Given the description of an element on the screen output the (x, y) to click on. 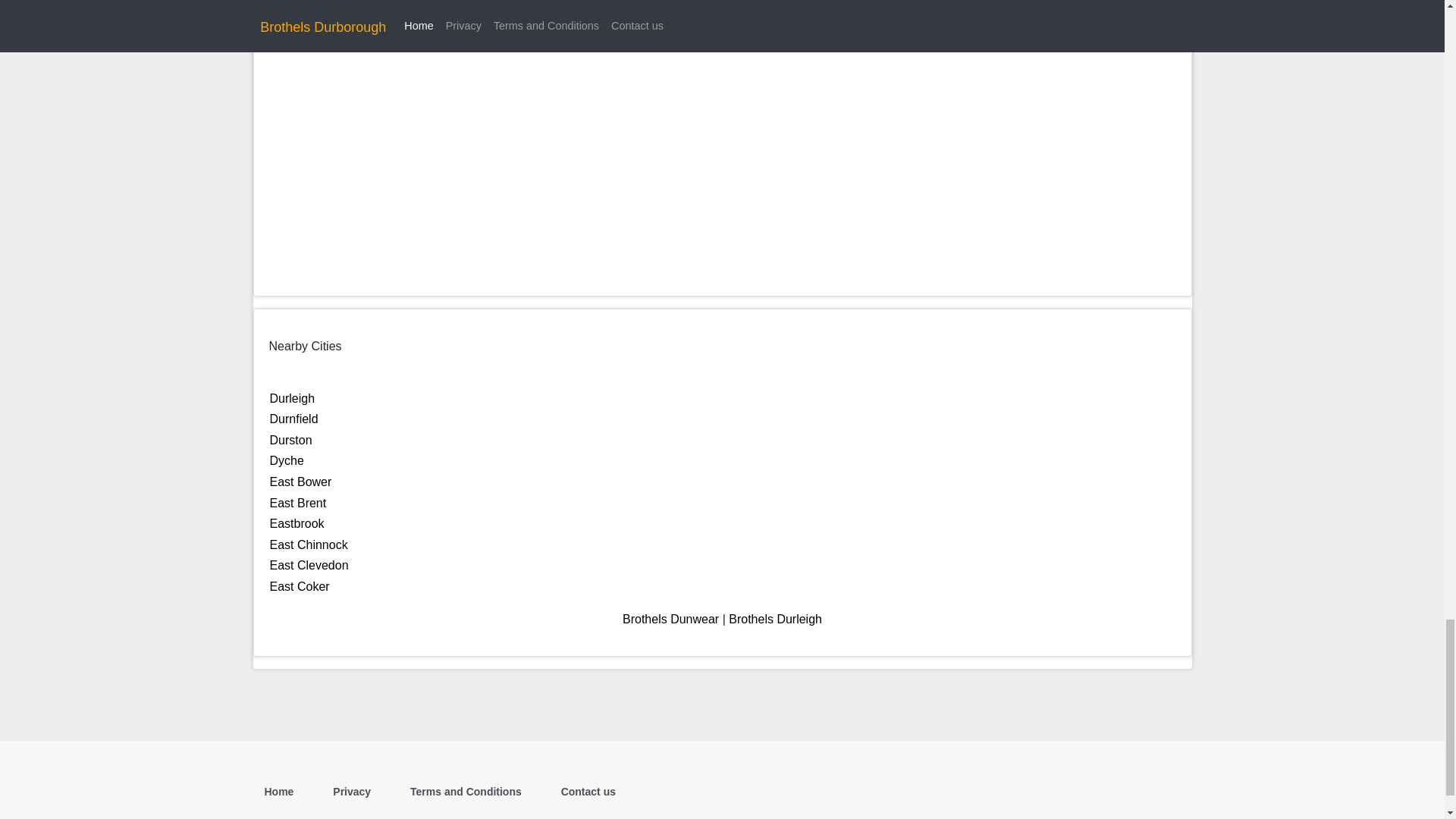
East Clevedon (309, 564)
Brothels Durleigh (775, 618)
East Bower (300, 481)
Durnfield (293, 418)
East Brent (297, 502)
Durleigh (292, 398)
Brothels Dunwear (671, 618)
Eastbrook (296, 522)
East Coker (299, 585)
East Chinnock (308, 544)
